Given the description of an element on the screen output the (x, y) to click on. 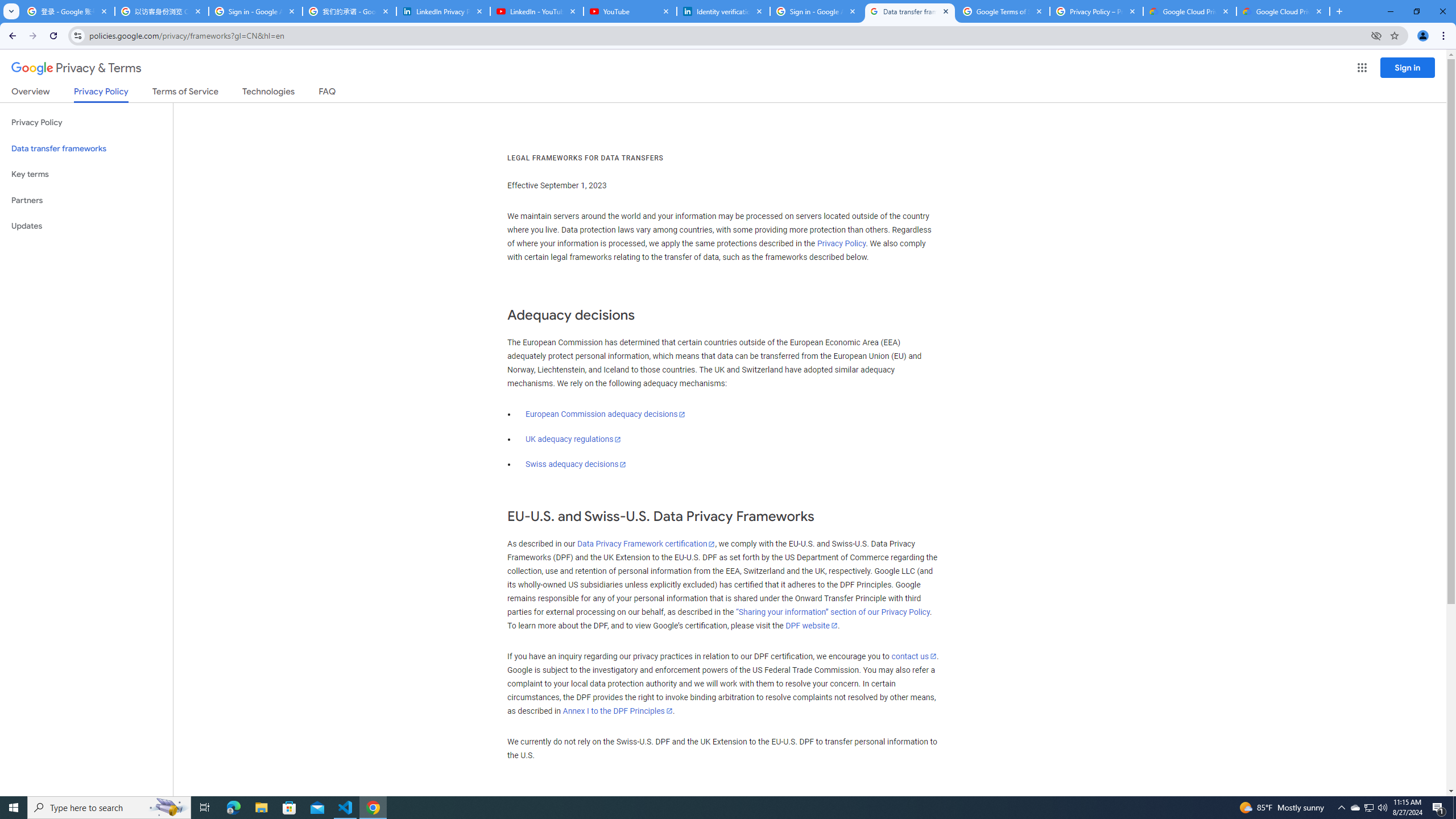
Swiss adequacy decisions (575, 464)
Overview (30, 93)
Sign in - Google Accounts (815, 11)
DPF website (810, 625)
YouTube (629, 11)
Google Cloud Privacy Notice (1189, 11)
Identity verification via Persona | LinkedIn Help (722, 11)
Technologies (268, 93)
